Given the description of an element on the screen output the (x, y) to click on. 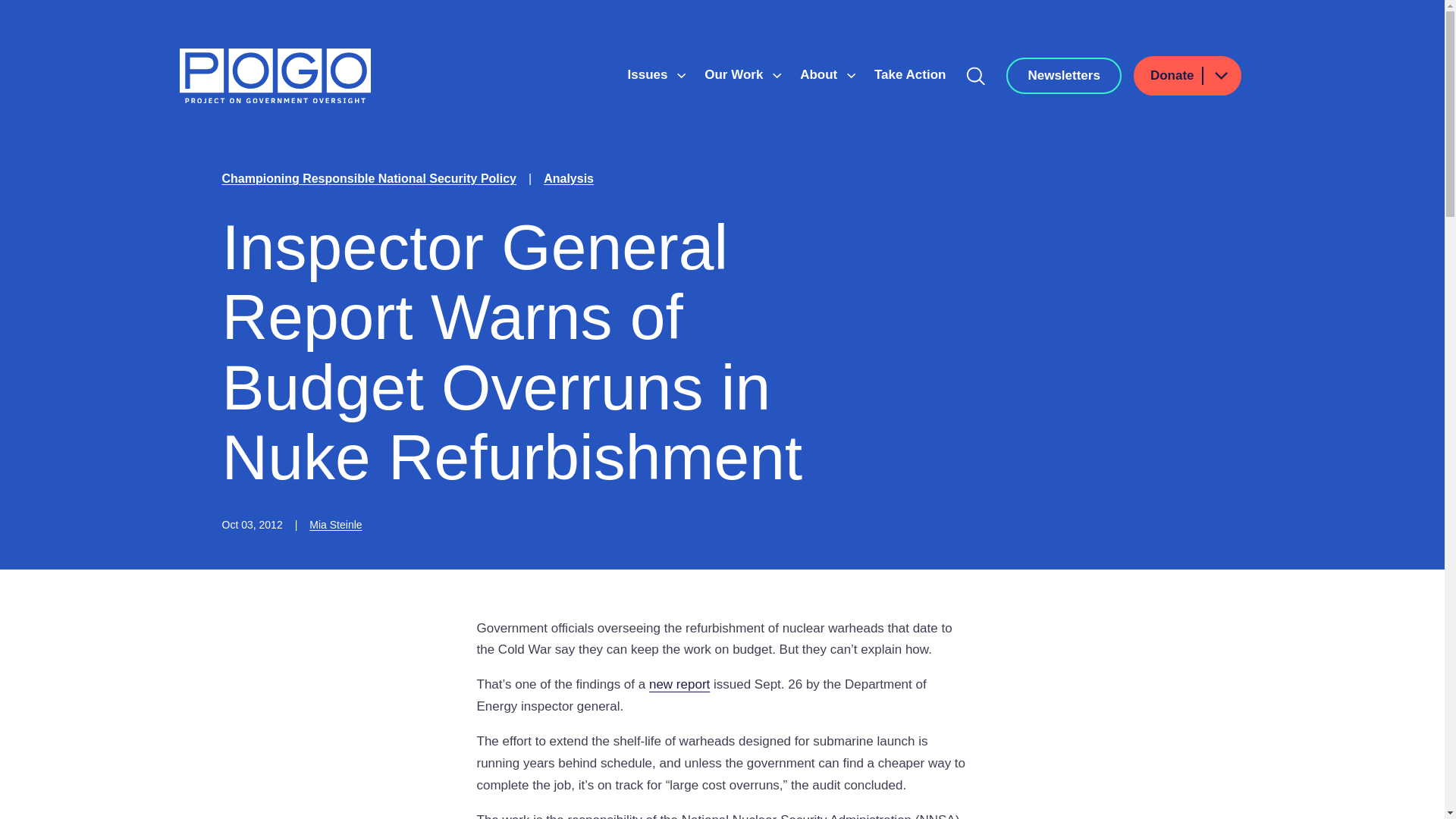
Home (274, 75)
Take Action (909, 74)
Show submenu for Issues (681, 75)
Show submenu for About (851, 75)
Newsletters (1063, 75)
Search (976, 75)
Show submenu for Donate (1220, 75)
About (820, 74)
Show submenu for Our Work (777, 75)
Our Work (735, 74)
